Given the description of an element on the screen output the (x, y) to click on. 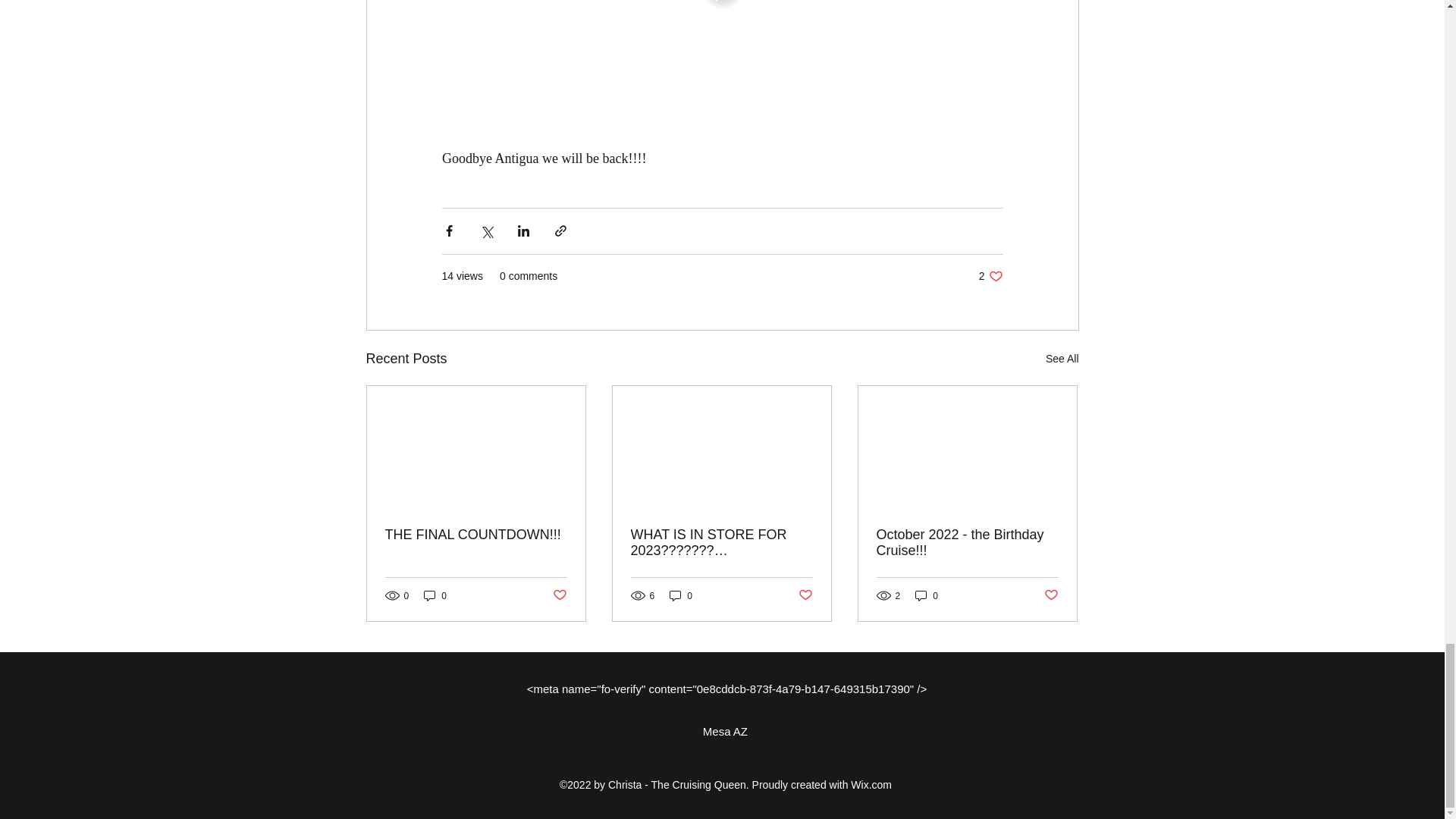
0 (435, 595)
0 (681, 595)
0 (926, 595)
Post not marked as liked (558, 595)
October 2022 - the Birthday Cruise!!! (990, 276)
Post not marked as liked (967, 542)
Post not marked as liked (804, 595)
THE FINAL COUNTDOWN!!! (1050, 595)
See All (476, 534)
